Given the description of an element on the screen output the (x, y) to click on. 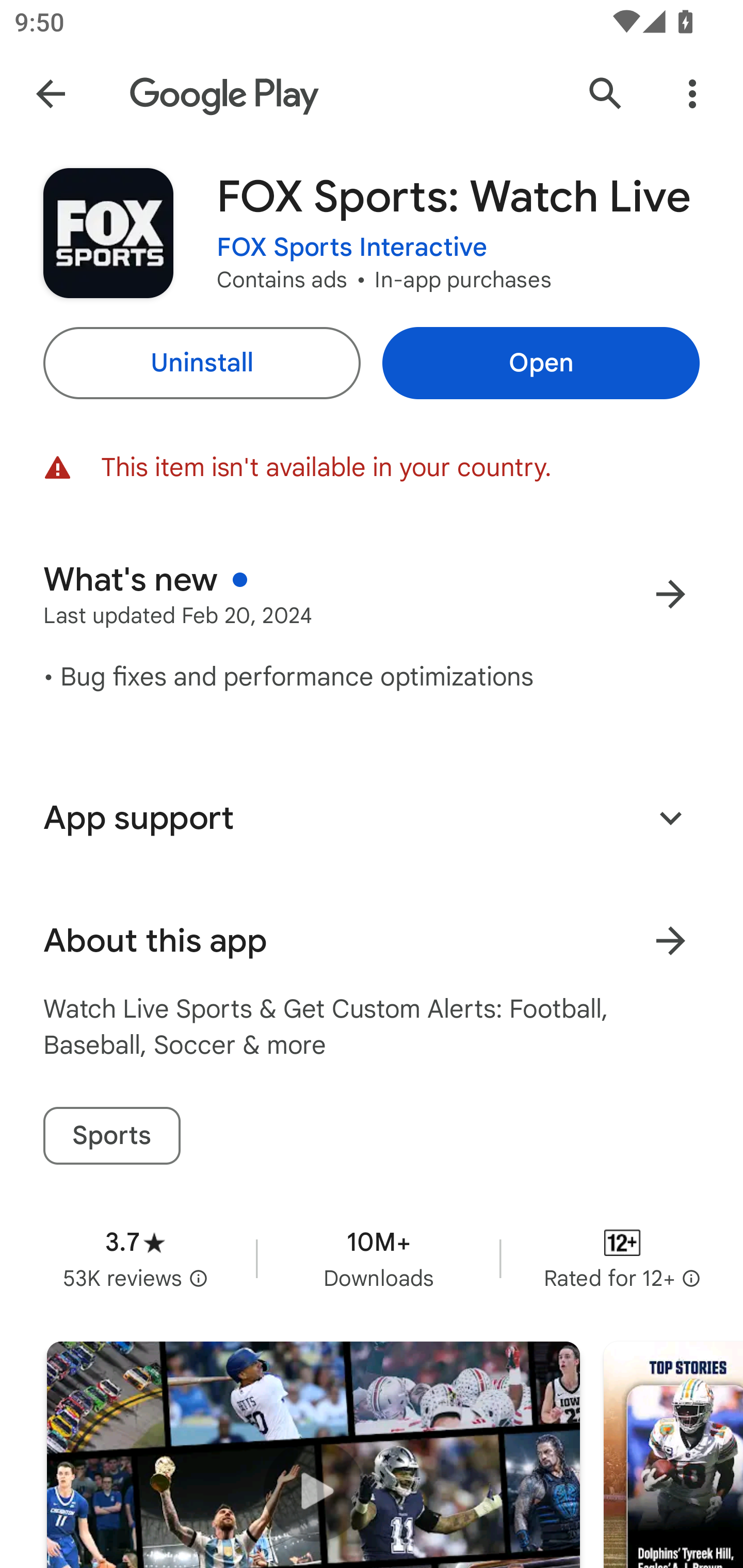
Navigate up (50, 93)
Search Google Play (605, 93)
More Options (692, 93)
FOX Sports Interactive (351, 247)
Uninstall (201, 362)
Open (540, 362)
More results for What's new (670, 594)
App support Expand (371, 817)
Expand (670, 817)
About this app Learn more About this app (371, 940)
Learn more About this app (670, 940)
Sports tag (111, 1135)
Average rating 3.7 stars in 53 thousand reviews (135, 1258)
Content rating Rated for 12+ (622, 1258)
Play trailer for "FOX Sports: Watch Live" (313, 1455)
